Given the description of an element on the screen output the (x, y) to click on. 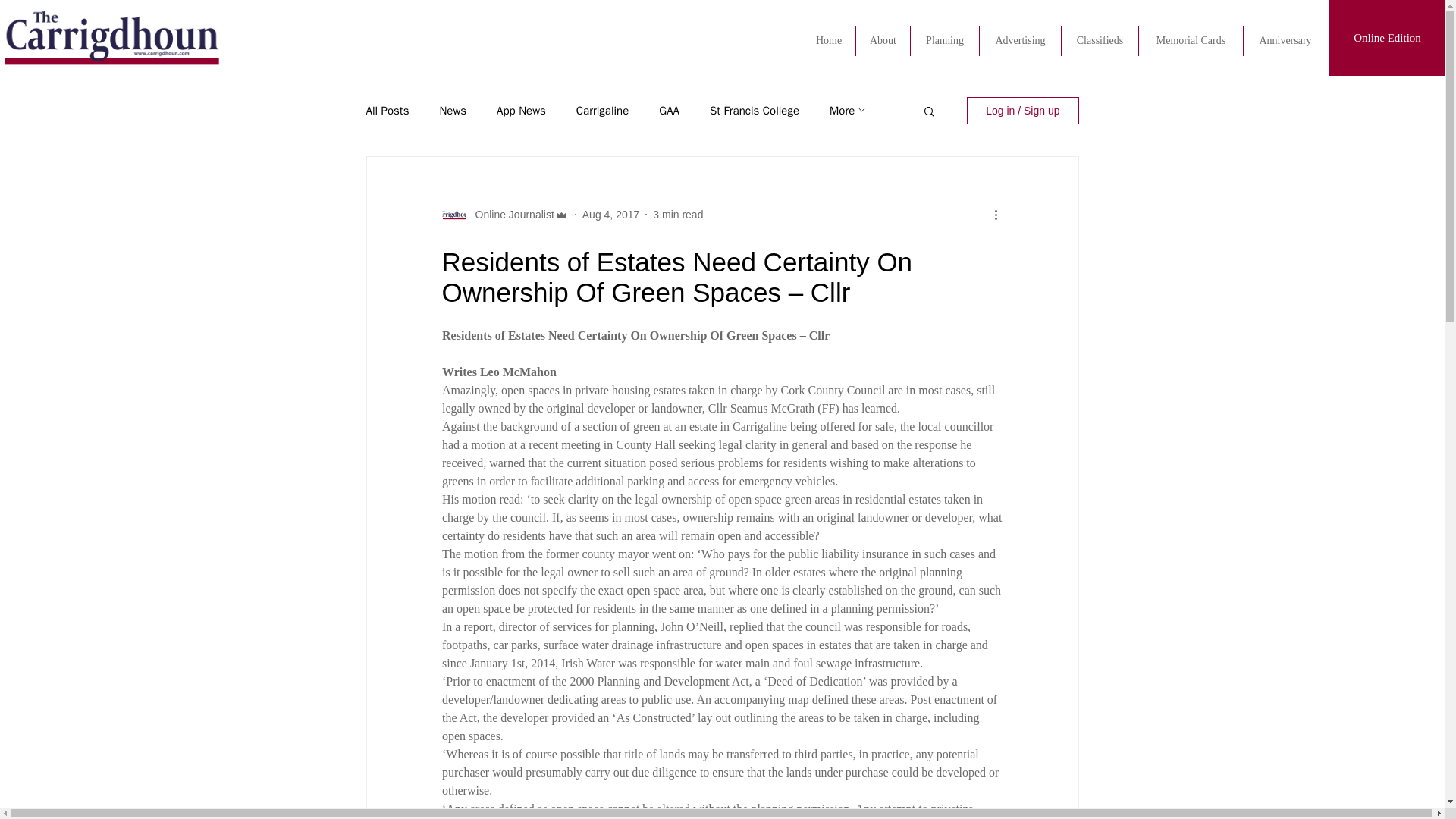
St Francis College (754, 110)
About (883, 40)
Memorial Cards (1190, 40)
Home (829, 40)
Aug 4, 2017 (611, 214)
GAA (669, 110)
Carrigaline (602, 110)
Online Journalist (509, 213)
All Posts (387, 110)
Classifieds (1099, 40)
